Given the description of an element on the screen output the (x, y) to click on. 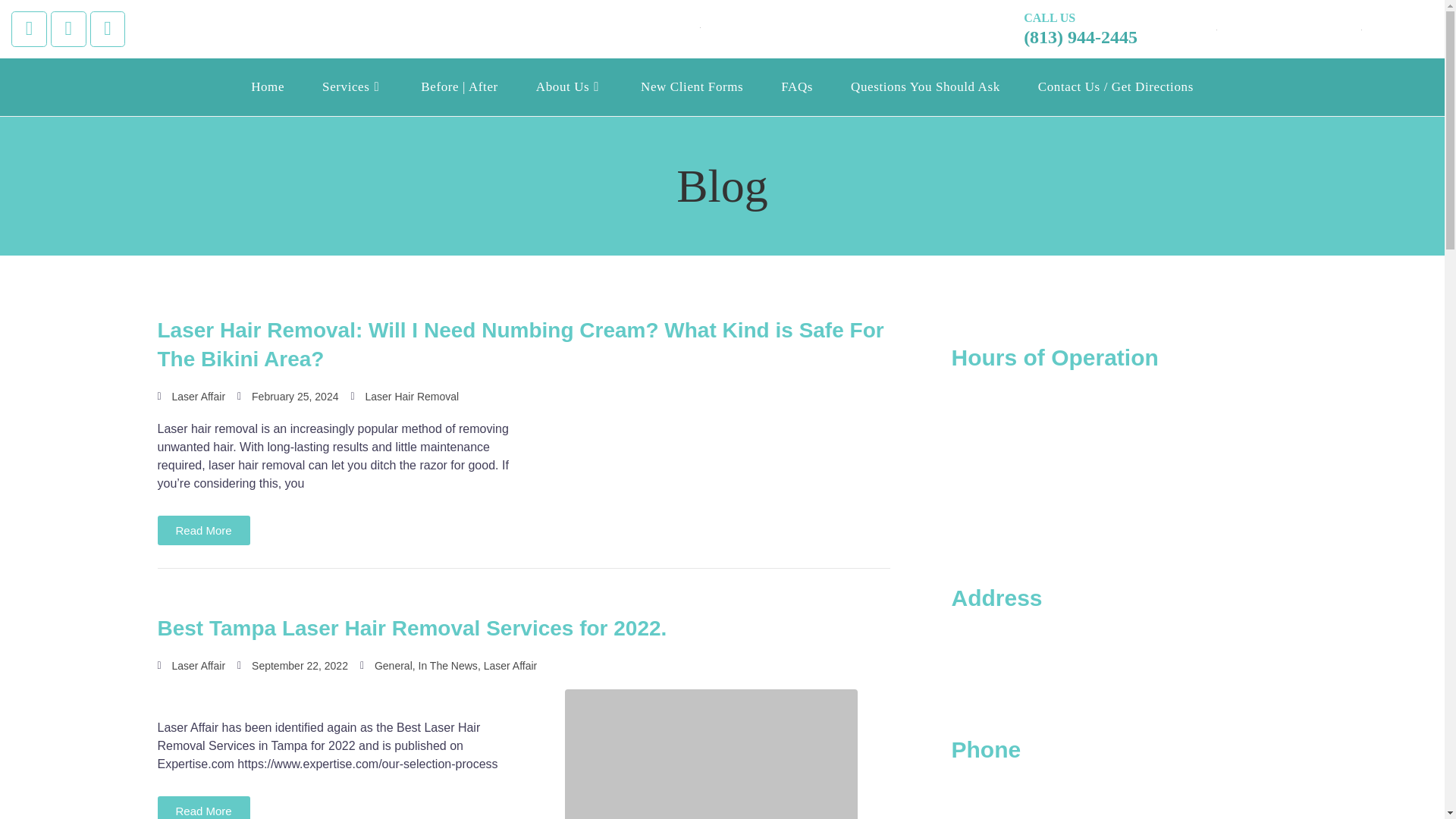
FAQs (796, 87)
Home (266, 87)
Questions You Should Ask (925, 87)
Services (351, 87)
About Us (568, 87)
New Client Forms (691, 87)
